Given the description of an element on the screen output the (x, y) to click on. 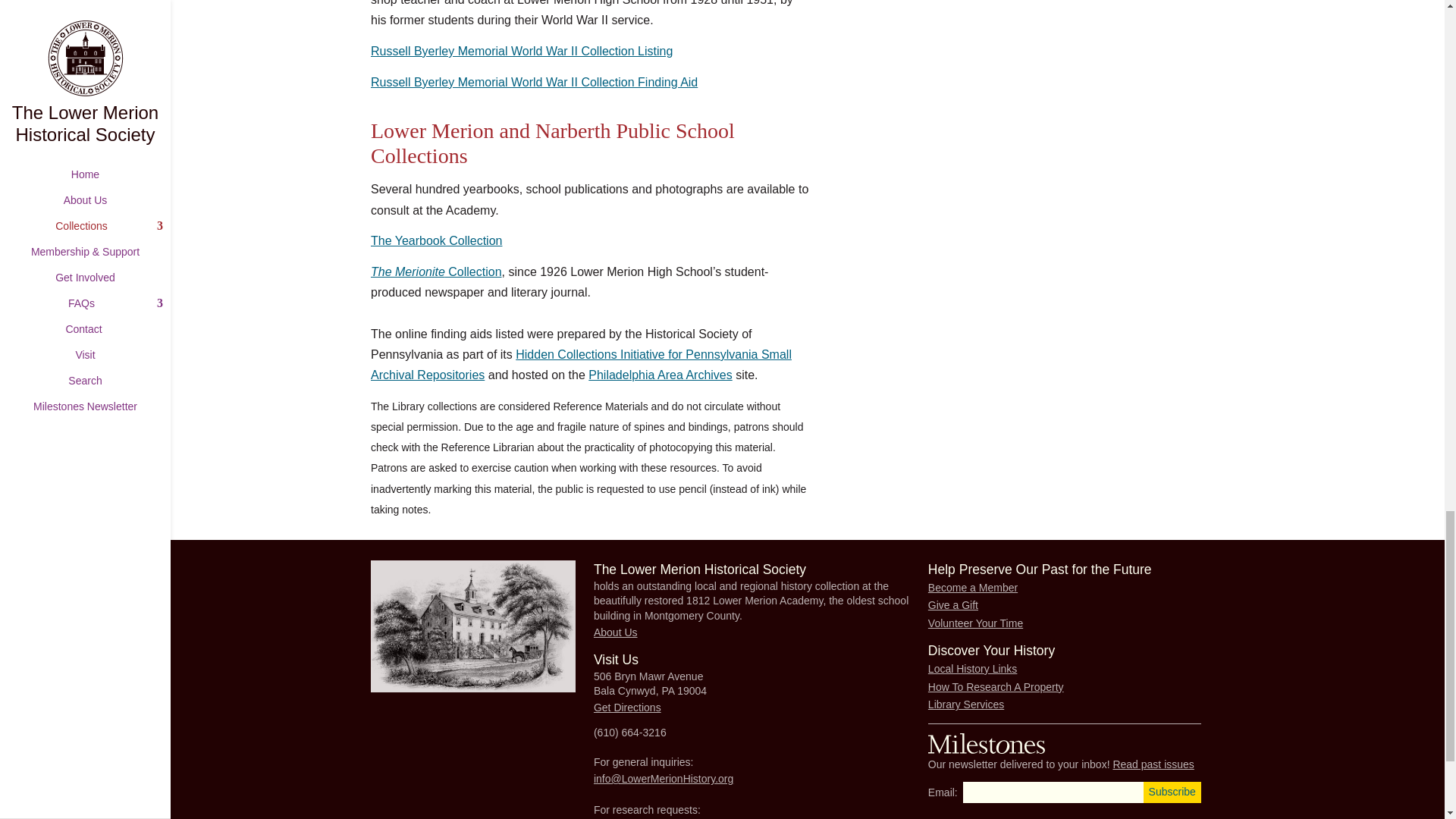
The Merionite Collection (436, 271)
Russell Byerley Memorial World War II Collection Listing (521, 51)
Russell Byerley Memorial World War II Collection Finding Aid (534, 82)
The Yearbook Collection (436, 240)
